Given the description of an element on the screen output the (x, y) to click on. 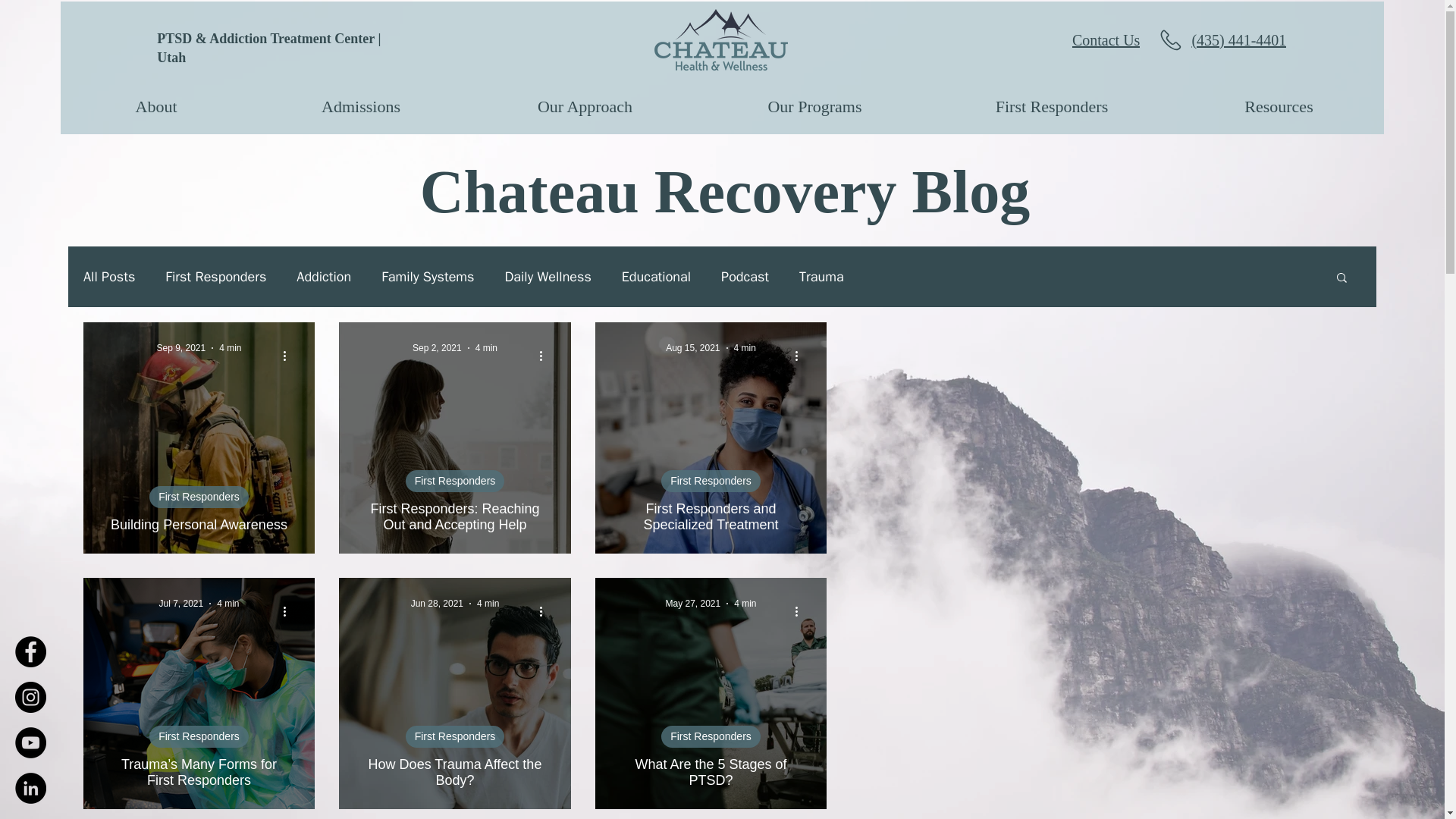
Jun 28, 2021 (436, 603)
Sep 2, 2021 (436, 347)
4 min (744, 347)
Jul 7, 2021 (180, 603)
Sep 9, 2021 (180, 347)
4 min (227, 603)
4 min (230, 347)
4 min (486, 347)
4 min (744, 603)
4 min (488, 603)
Aug 15, 2021 (692, 347)
Contact Us (1089, 40)
May 27, 2021 (692, 603)
